Given the description of an element on the screen output the (x, y) to click on. 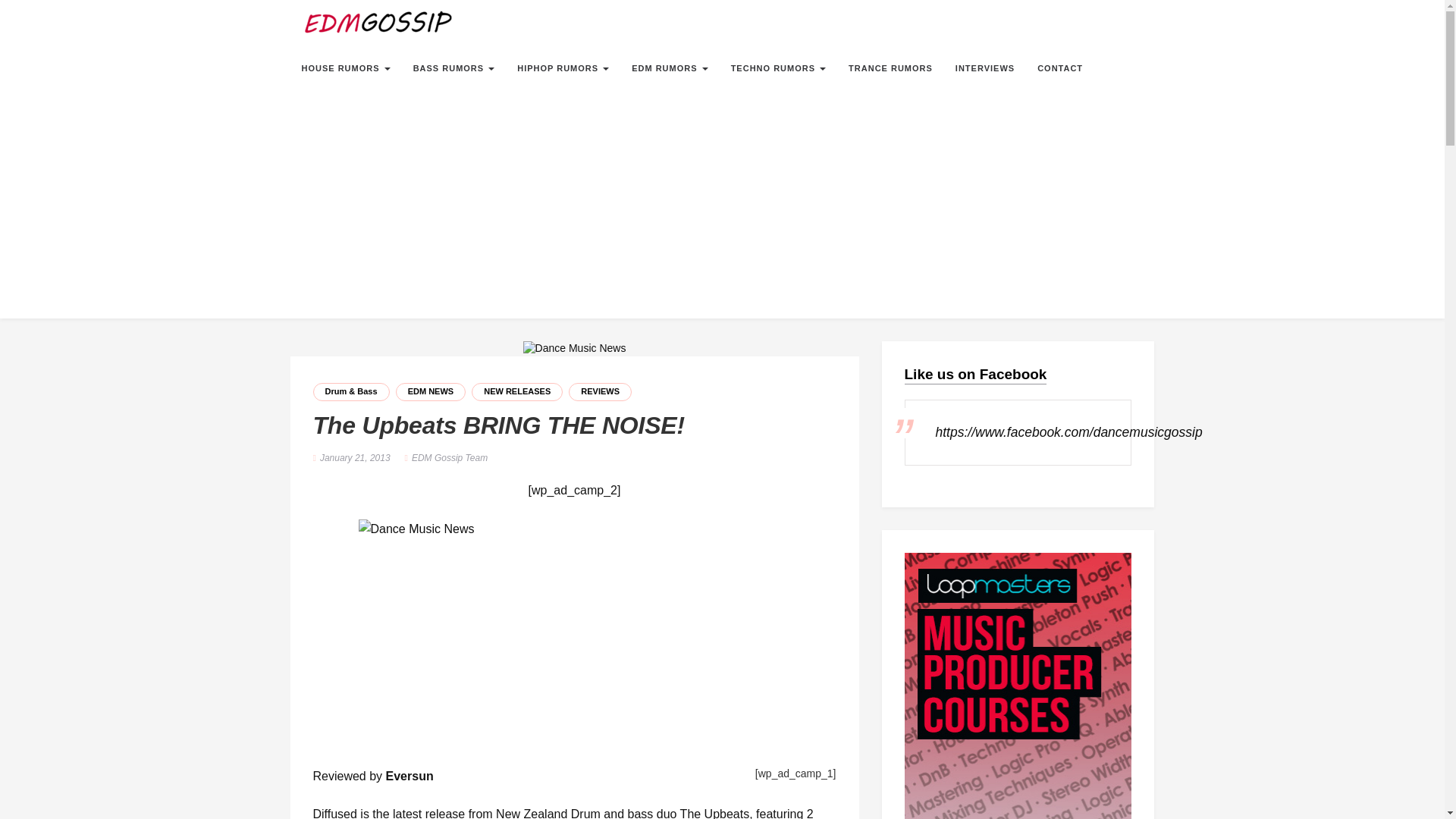
HIPHOP RUMORS (562, 67)
Techno Rumors (778, 67)
EDM Rumors (669, 67)
INTERVIEWS (984, 67)
REVIEWS (600, 392)
TRANCE RUMORS (890, 67)
EDM NEWS (430, 392)
EDM RUMORS (669, 67)
Hiphop Rumors (562, 67)
Bass Rumors (453, 67)
CONTACT (1060, 67)
BASS RUMORS (453, 67)
NEW RELEASES (516, 392)
House Rumors (345, 67)
HOUSE RUMORS (345, 67)
